Given the description of an element on the screen output the (x, y) to click on. 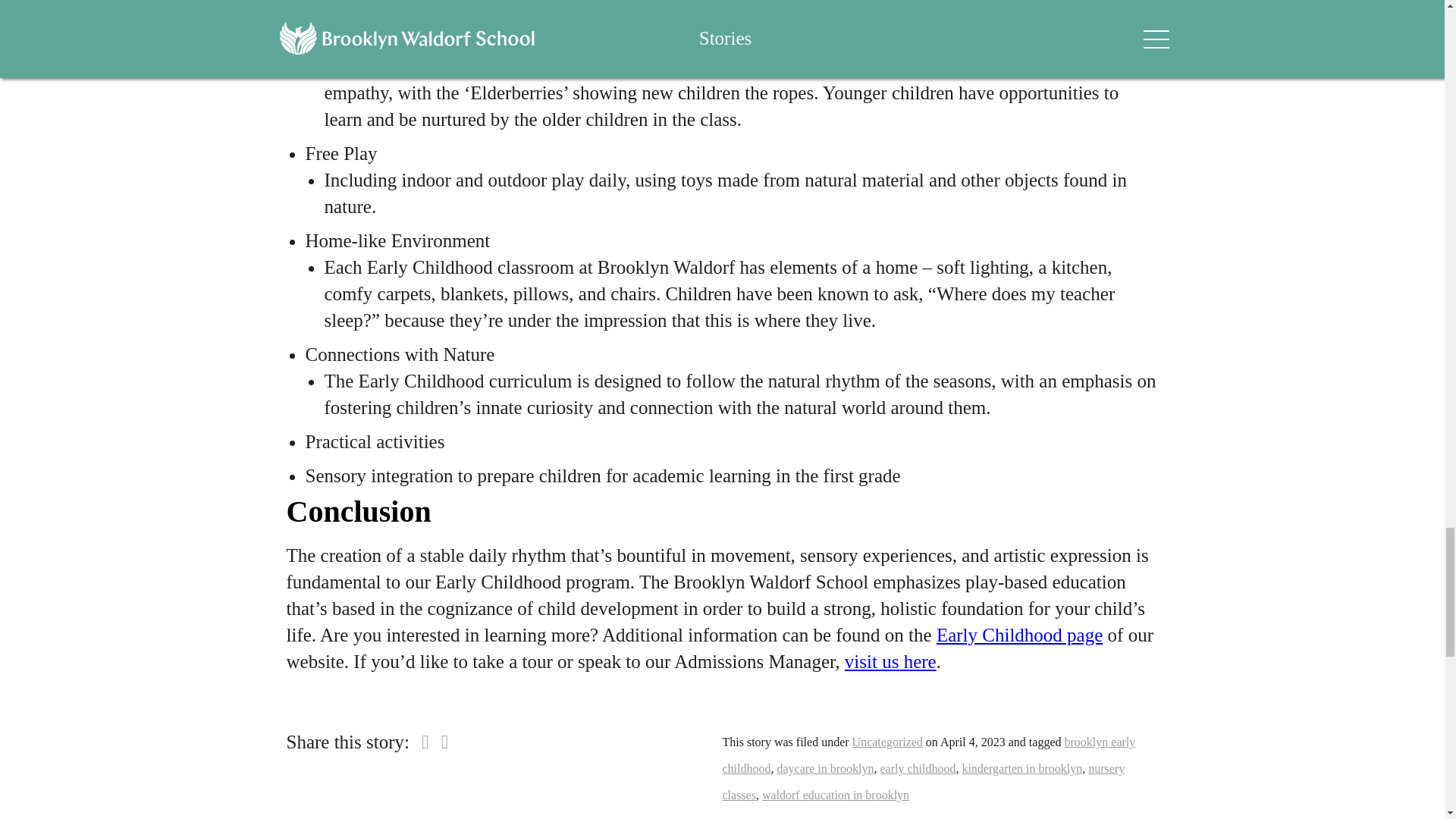
Share 'Early Childhood Daily Rhythm' on Twitter (444, 742)
Share 'Early Childhood Daily Rhythm' on Facebook (425, 742)
